Given the description of an element on the screen output the (x, y) to click on. 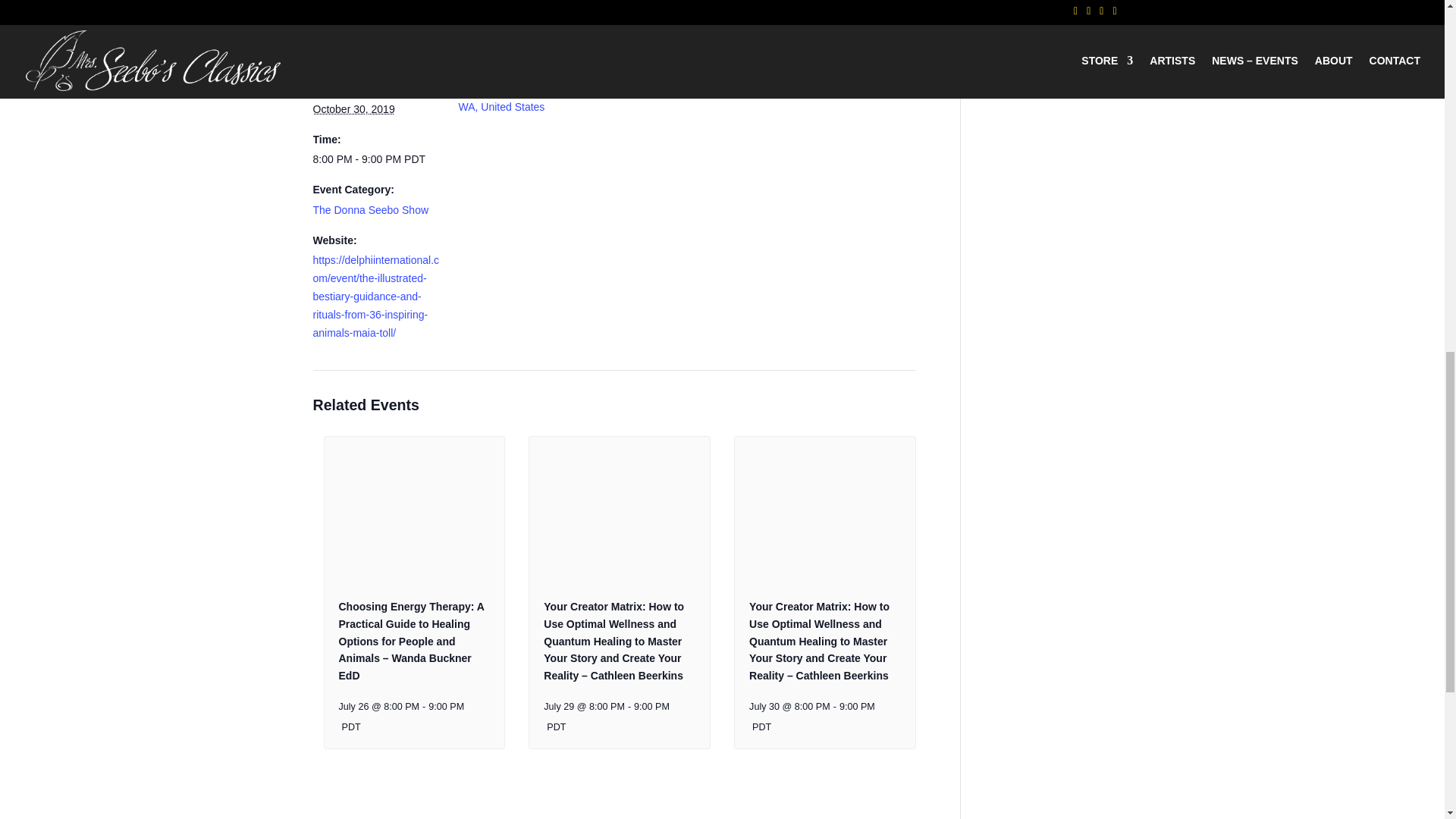
The Donna Seebo Show (370, 209)
2019-10-30 (353, 109)
The Donna Seebo Show, WA, United States (517, 97)
2019-10-30 (376, 159)
